Given the description of an element on the screen output the (x, y) to click on. 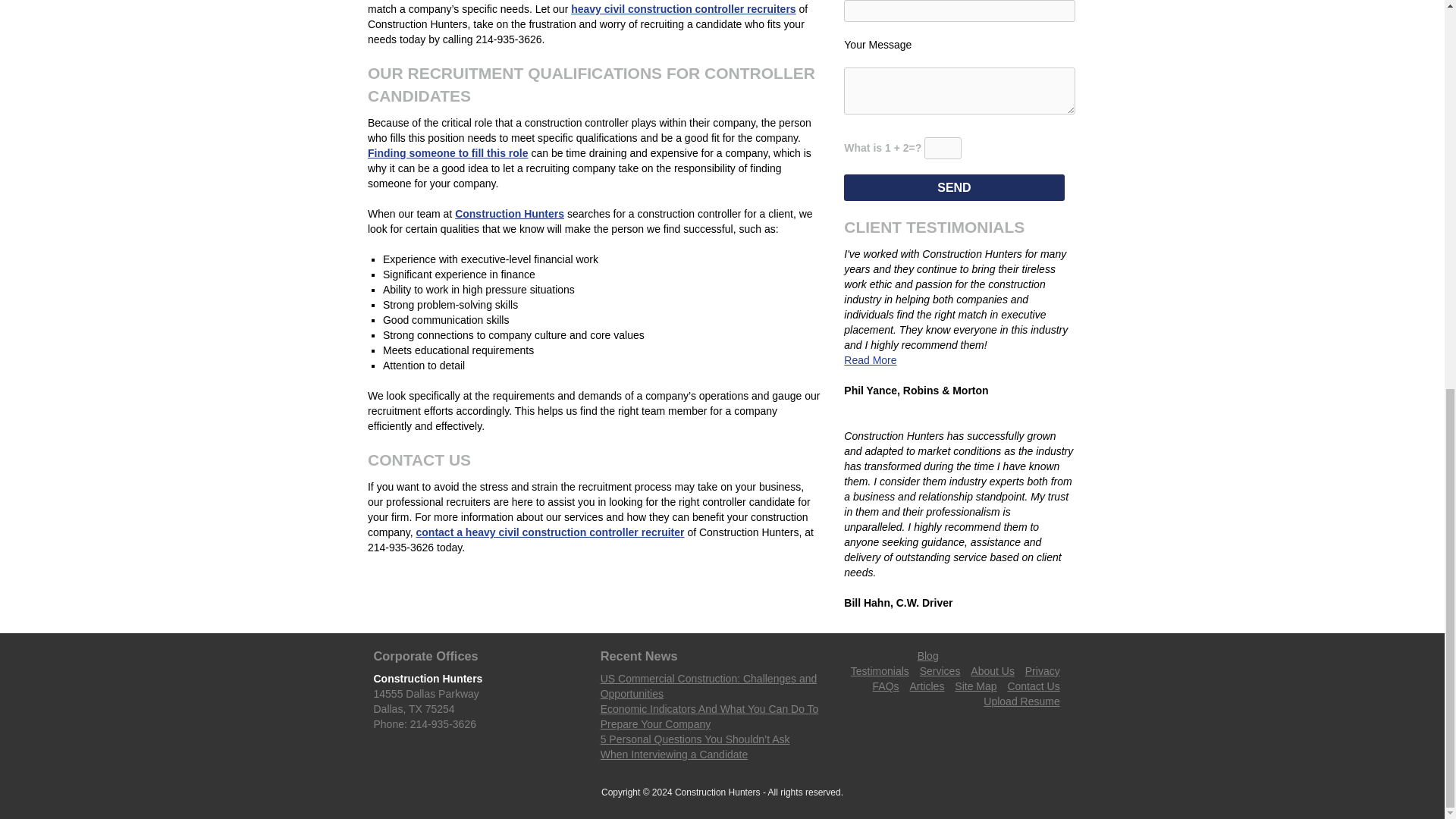
Site Map (975, 686)
Services (940, 671)
Send (954, 187)
Privacy (1042, 671)
Contact Us (1033, 686)
Articles (927, 686)
Read More (870, 359)
contact a heavy civil construction controller recruiter (550, 532)
Blog (928, 655)
